Given the description of an element on the screen output the (x, y) to click on. 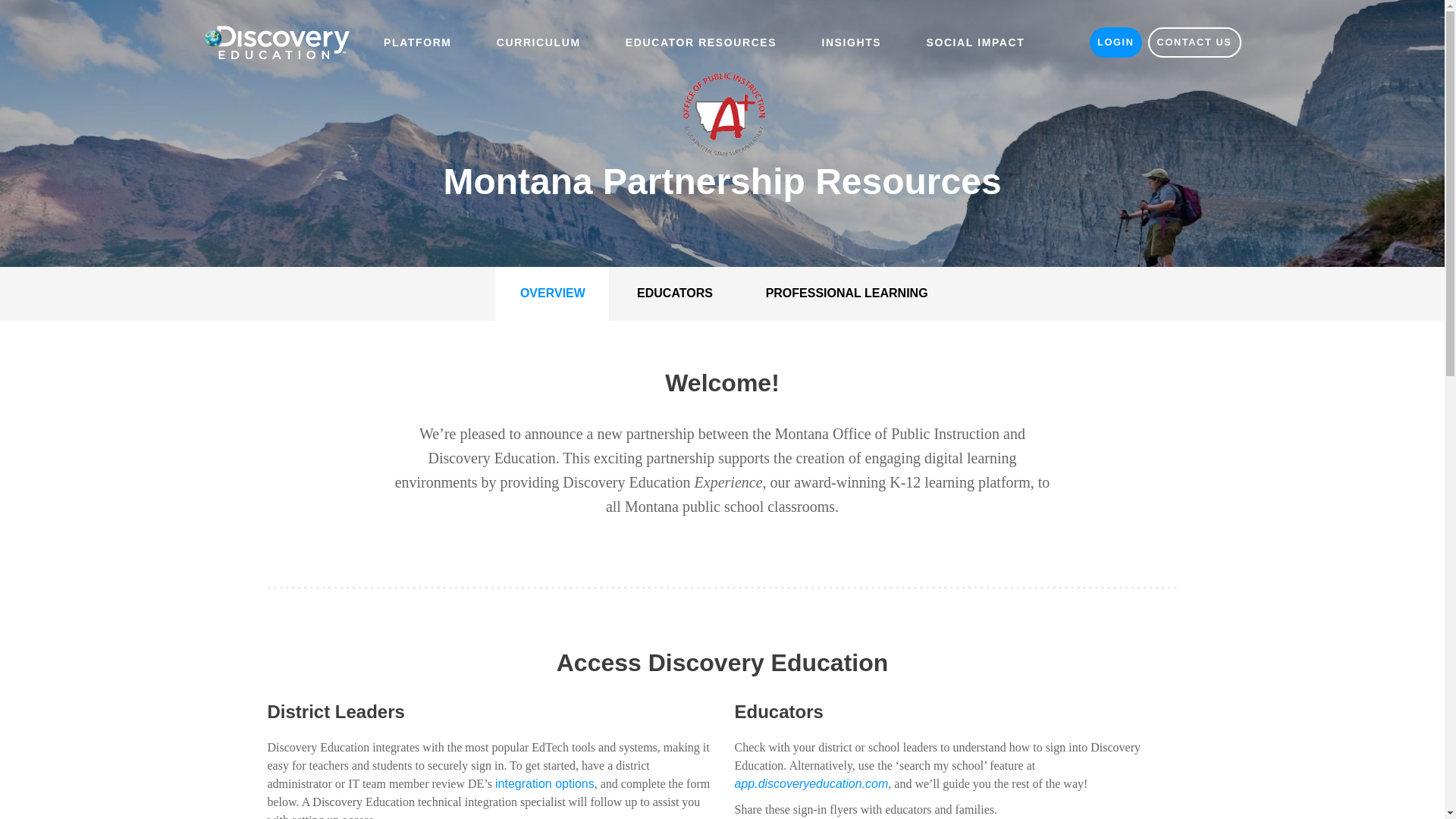
Skip to content (40, 9)
PLATFORM (417, 42)
CURRICULUM (538, 42)
INSIGHTS (850, 42)
EDUCATOR RESOURCES (701, 42)
CONTACT US (1194, 42)
LOGIN (1115, 42)
SOCIAL IMPACT (975, 42)
